Given the description of an element on the screen output the (x, y) to click on. 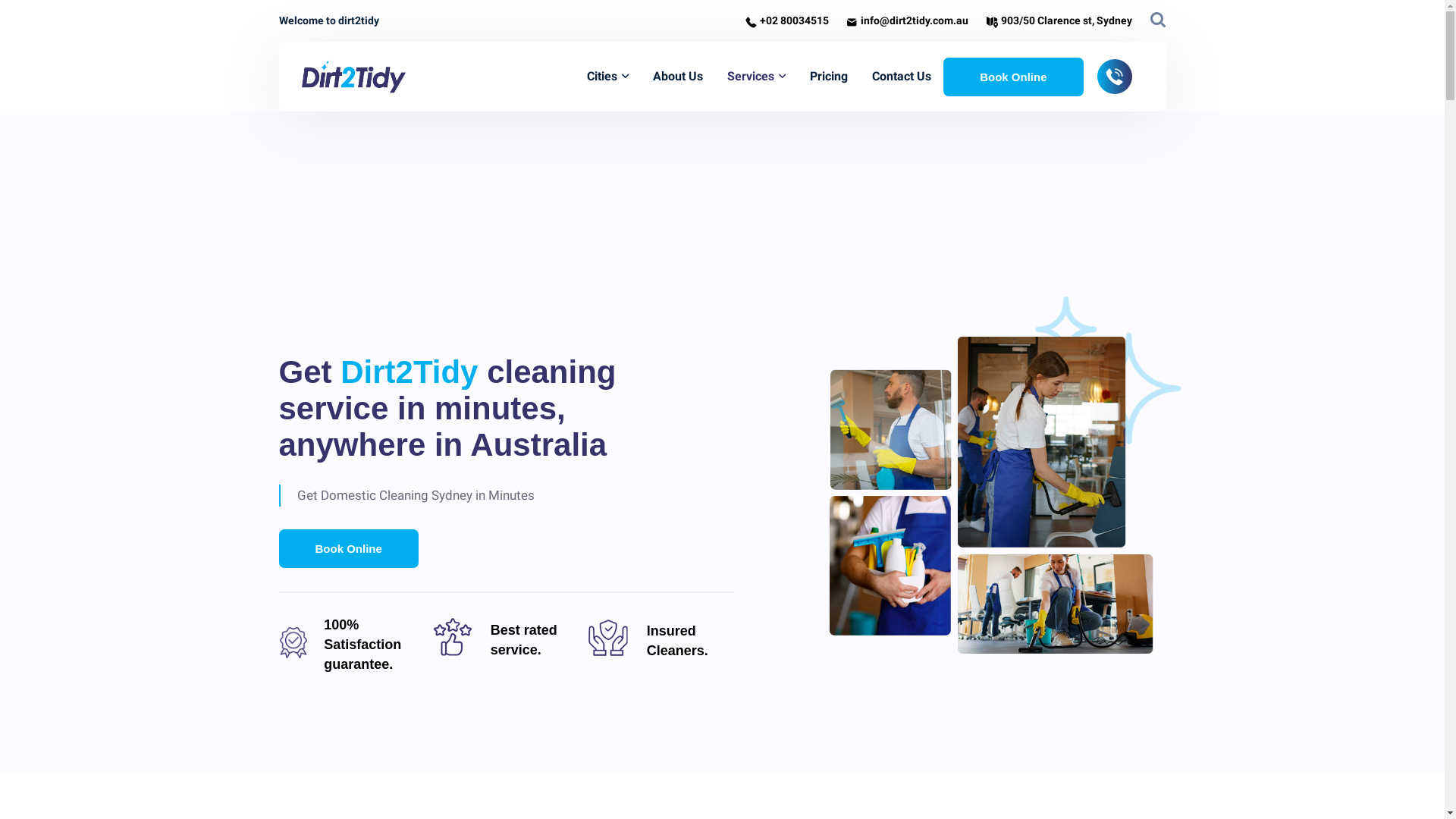
Book Online Element type: text (348, 548)
Book Online Element type: text (1012, 76)
Services Element type: text (756, 76)
About Us Element type: text (677, 76)
Cities Element type: text (607, 76)
Contact Us Element type: text (901, 76)
Pricing Element type: text (828, 76)
